Given the description of an element on the screen output the (x, y) to click on. 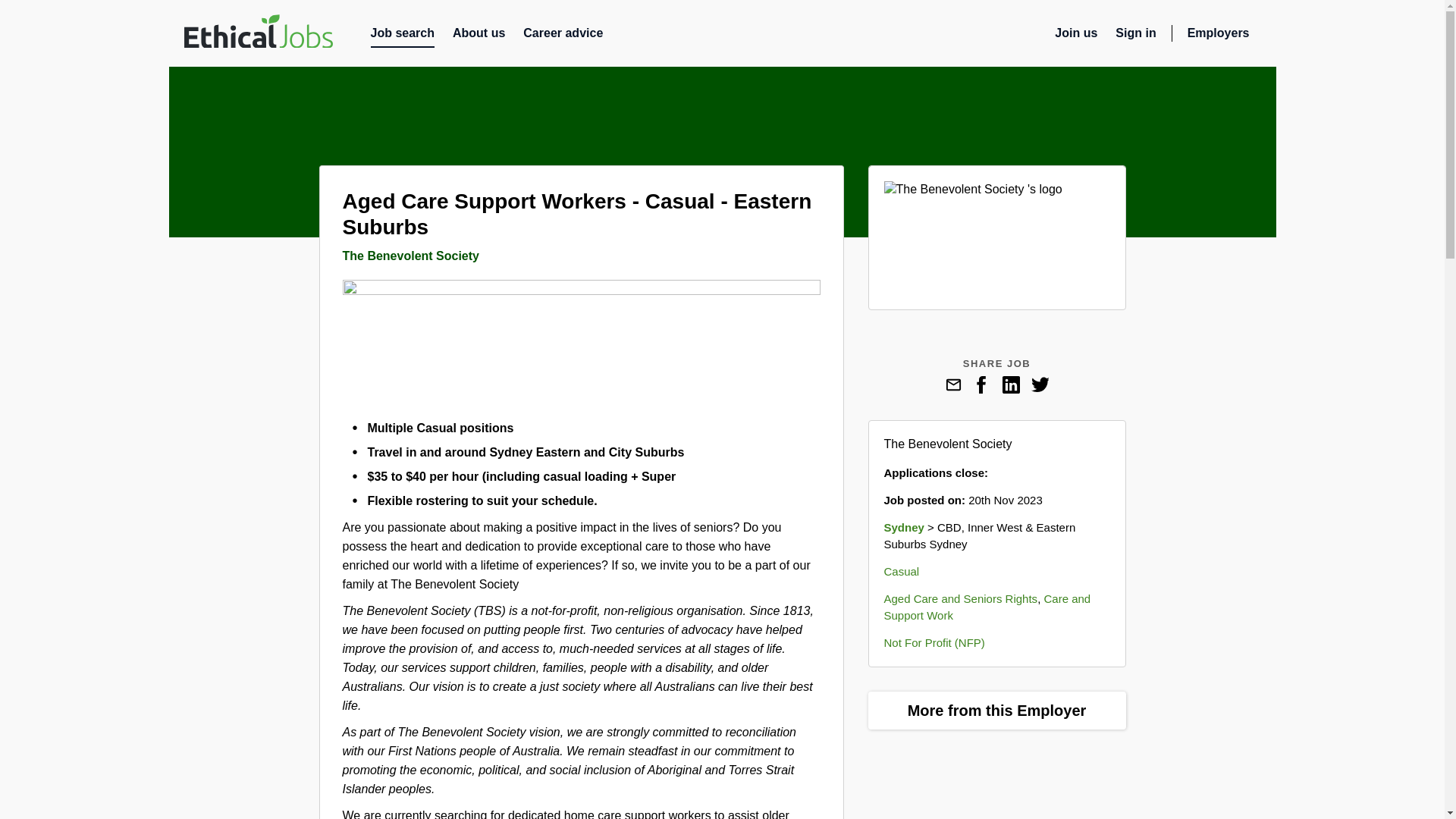
Job search (401, 36)
About us (478, 36)
Career advice (562, 36)
Join us (1075, 36)
Ethical Jobs Logo (257, 33)
Ethical Jobs Logo (257, 31)
Sign in (1135, 36)
Employers (1224, 36)
